Given the description of an element on the screen output the (x, y) to click on. 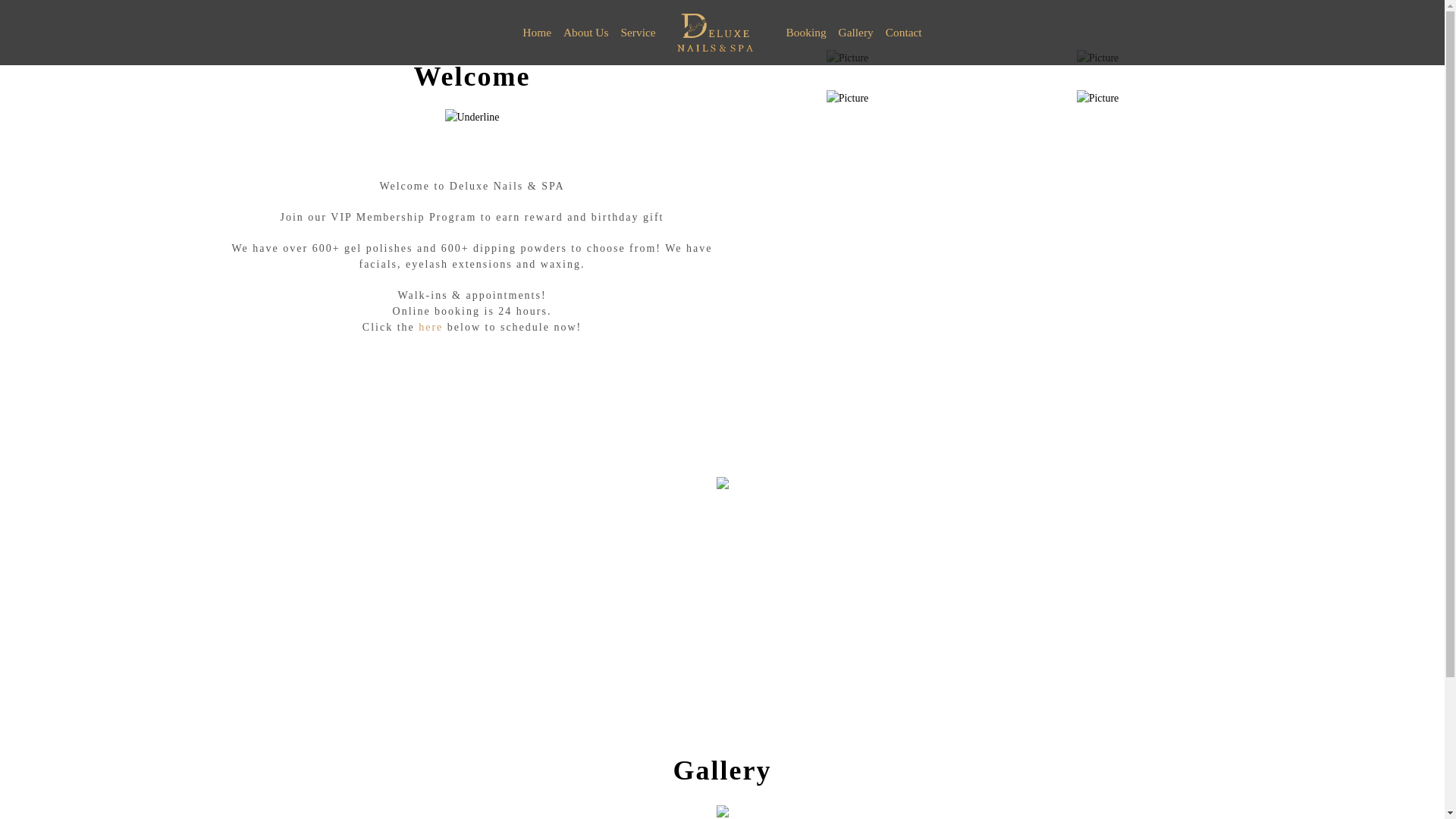
Booking (806, 32)
BOOK NOW (722, 647)
here (430, 326)
About Us (585, 32)
Home (536, 32)
Contact (903, 32)
Gallery (855, 32)
Service (637, 32)
